Given the description of an element on the screen output the (x, y) to click on. 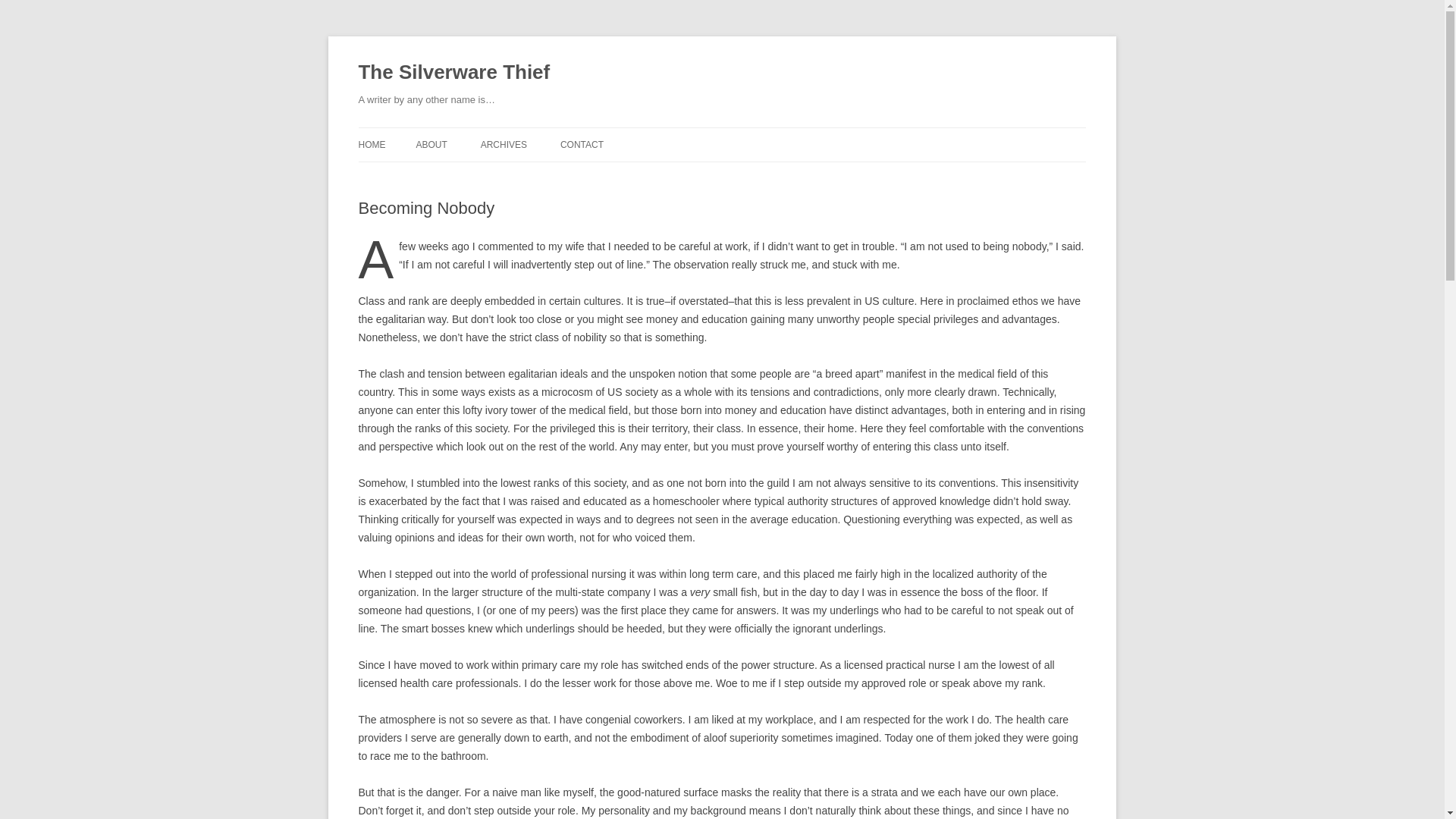
CONTACT (582, 144)
ABOUT (430, 144)
ARCHIVES (503, 144)
The Silverware Thief (454, 72)
